Given the description of an element on the screen output the (x, y) to click on. 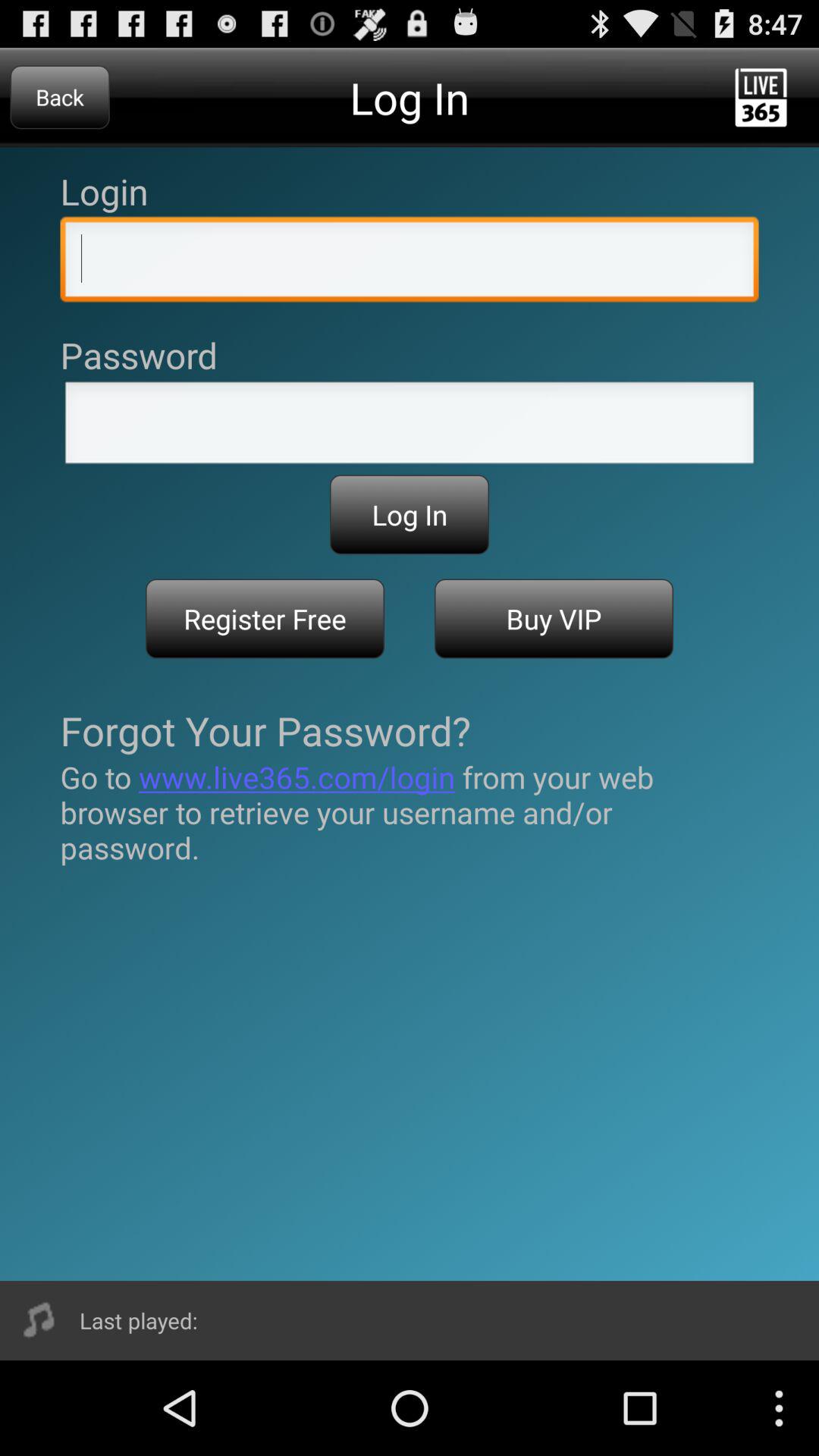
select item above the forgot your password? item (264, 618)
